Given the description of an element on the screen output the (x, y) to click on. 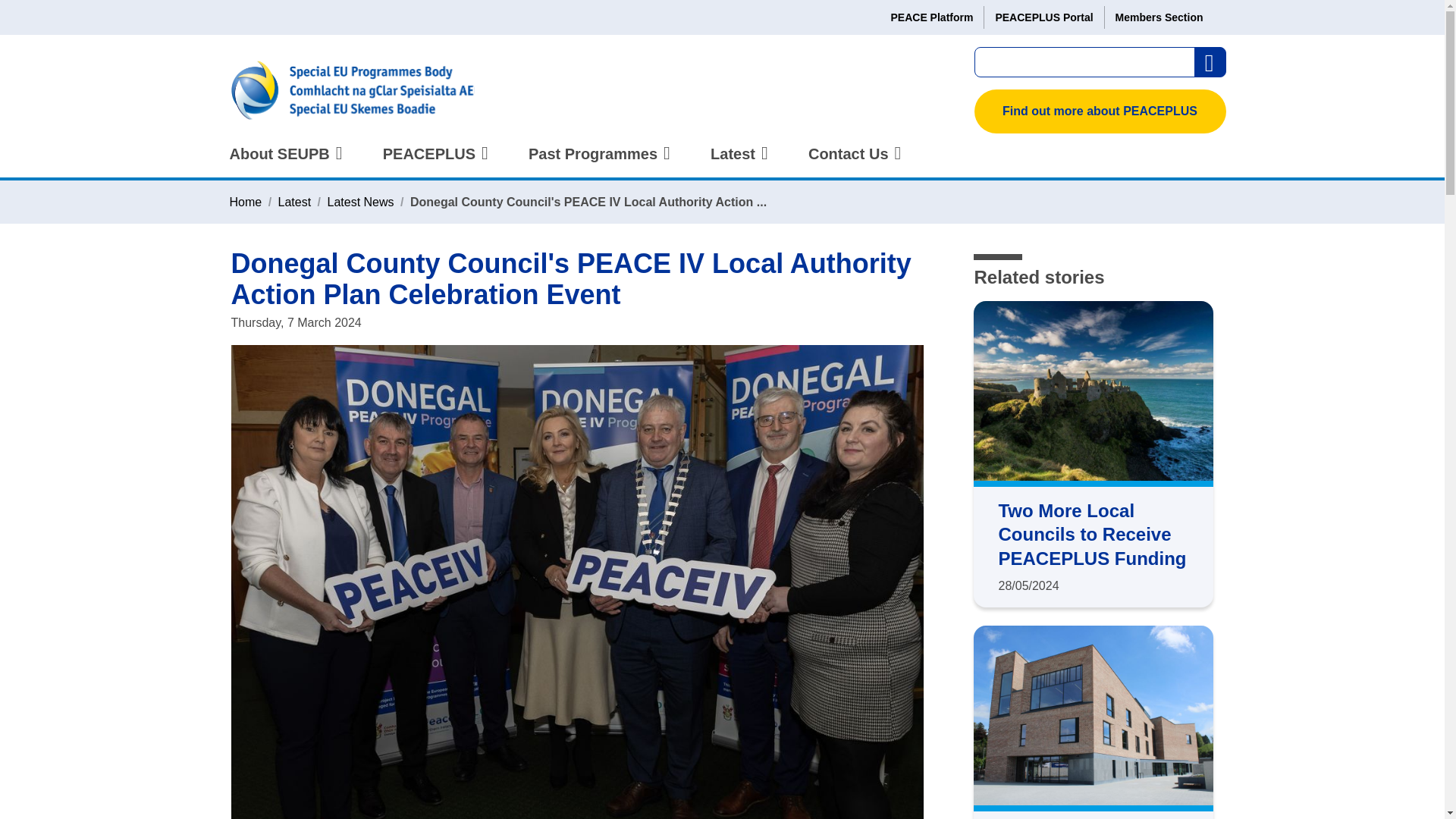
PEACE Platform (931, 16)
Past Programmes (596, 161)
About SEUPB (282, 161)
Find out more about PEACEPLUS (1099, 111)
Members Section (1159, 16)
PEACEPLUS (432, 161)
Search the site (1210, 61)
PEACEPLUS Portal (1043, 16)
Search the site (1210, 61)
